Given the description of an element on the screen output the (x, y) to click on. 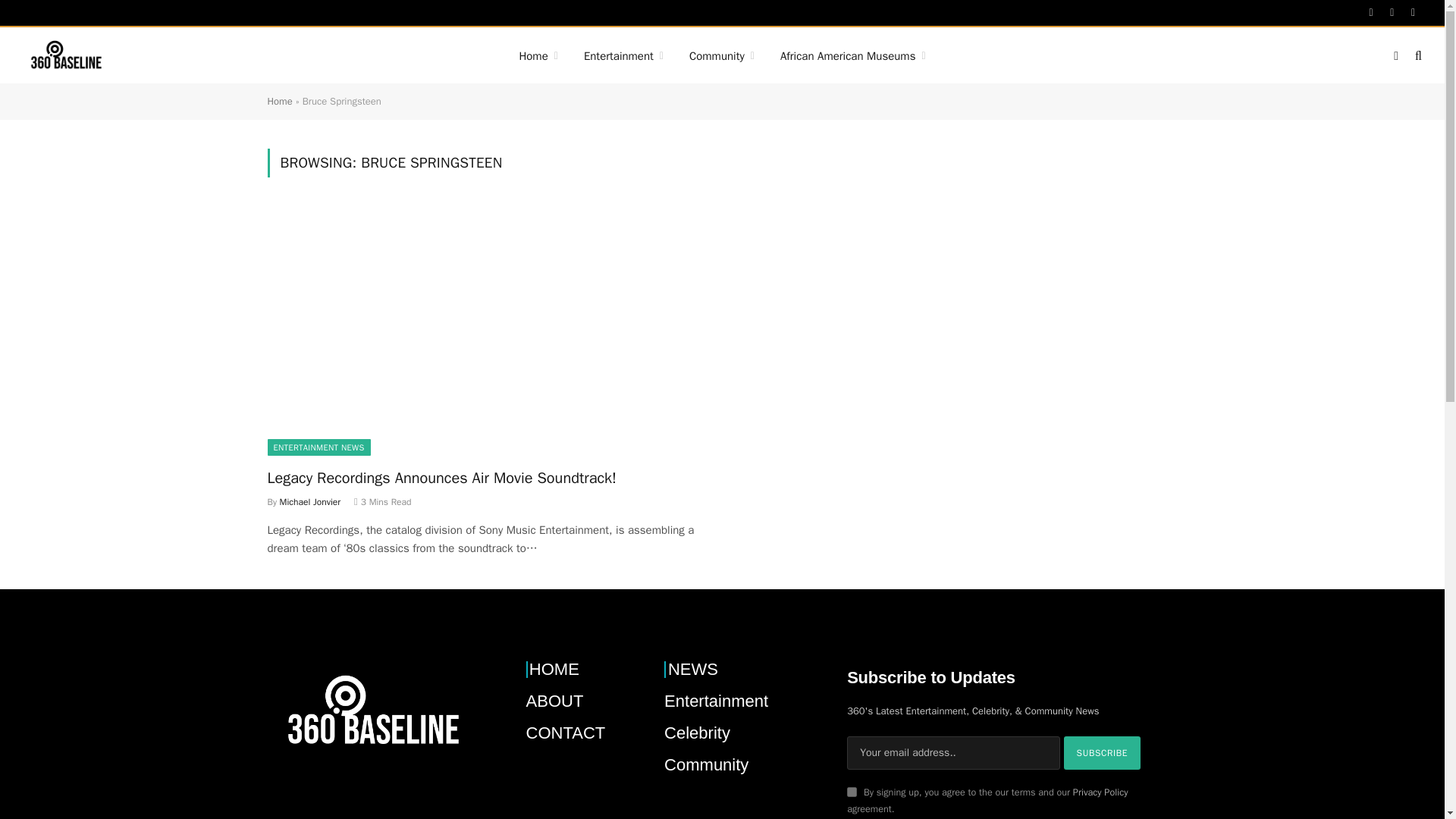
Switch to Dark Design - easier on eyes. (1396, 55)
on (852, 791)
Legacy Recordings Announces Air Movie Soundtrack! (486, 331)
African American Museums (853, 56)
Community (722, 56)
360 BASELINE MOVEMENT (65, 56)
Home (537, 56)
Subscribe (1102, 752)
Posts by Michael Jonvier (309, 501)
Entertainment (623, 56)
